Given the description of an element on the screen output the (x, y) to click on. 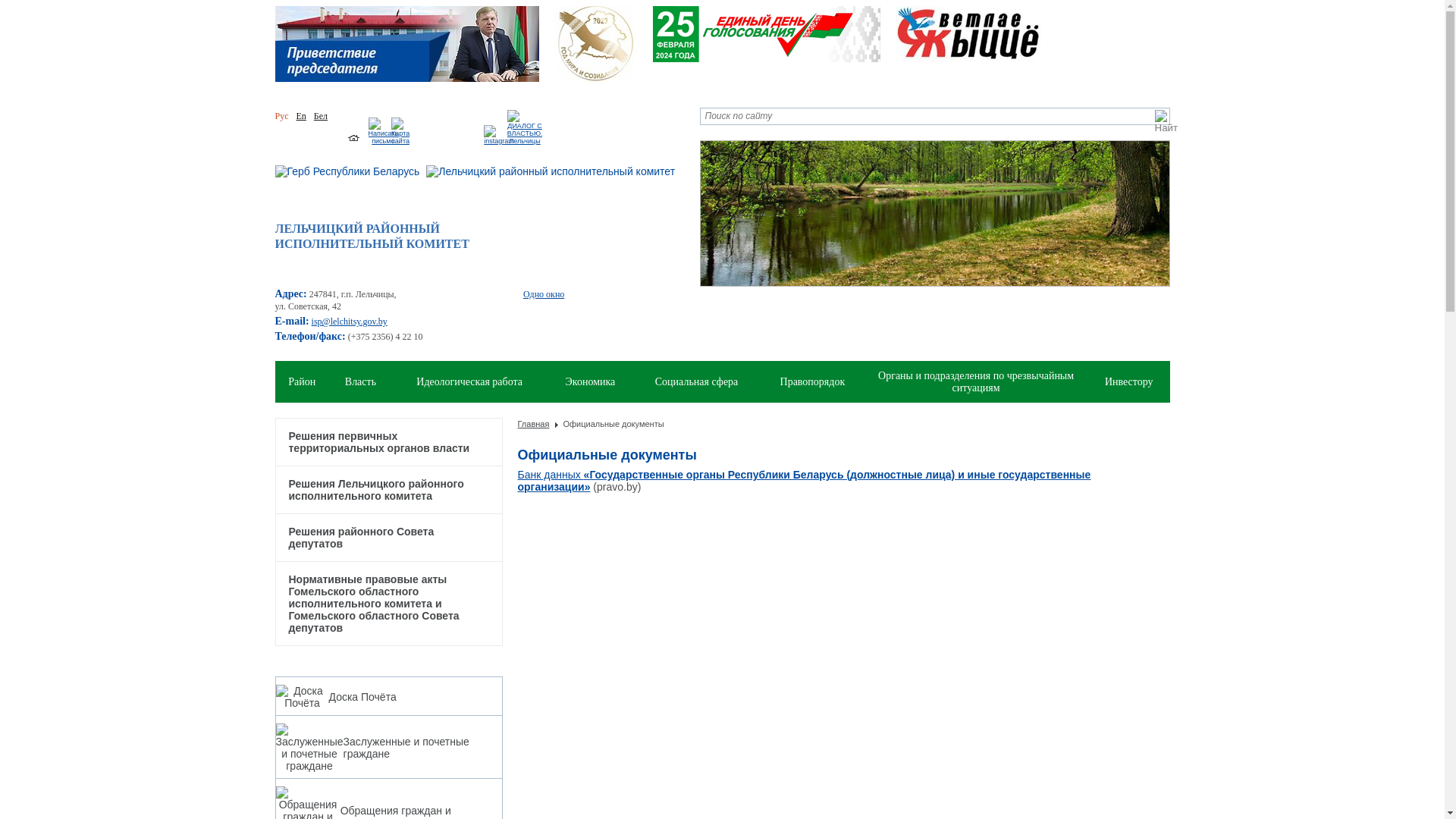
isp@lelchitsy.gov.by Element type: text (349, 321)
instagram Element type: hover (498, 140)
En Element type: text (300, 115)
instagram Element type: hover (498, 134)
